Given the description of an element on the screen output the (x, y) to click on. 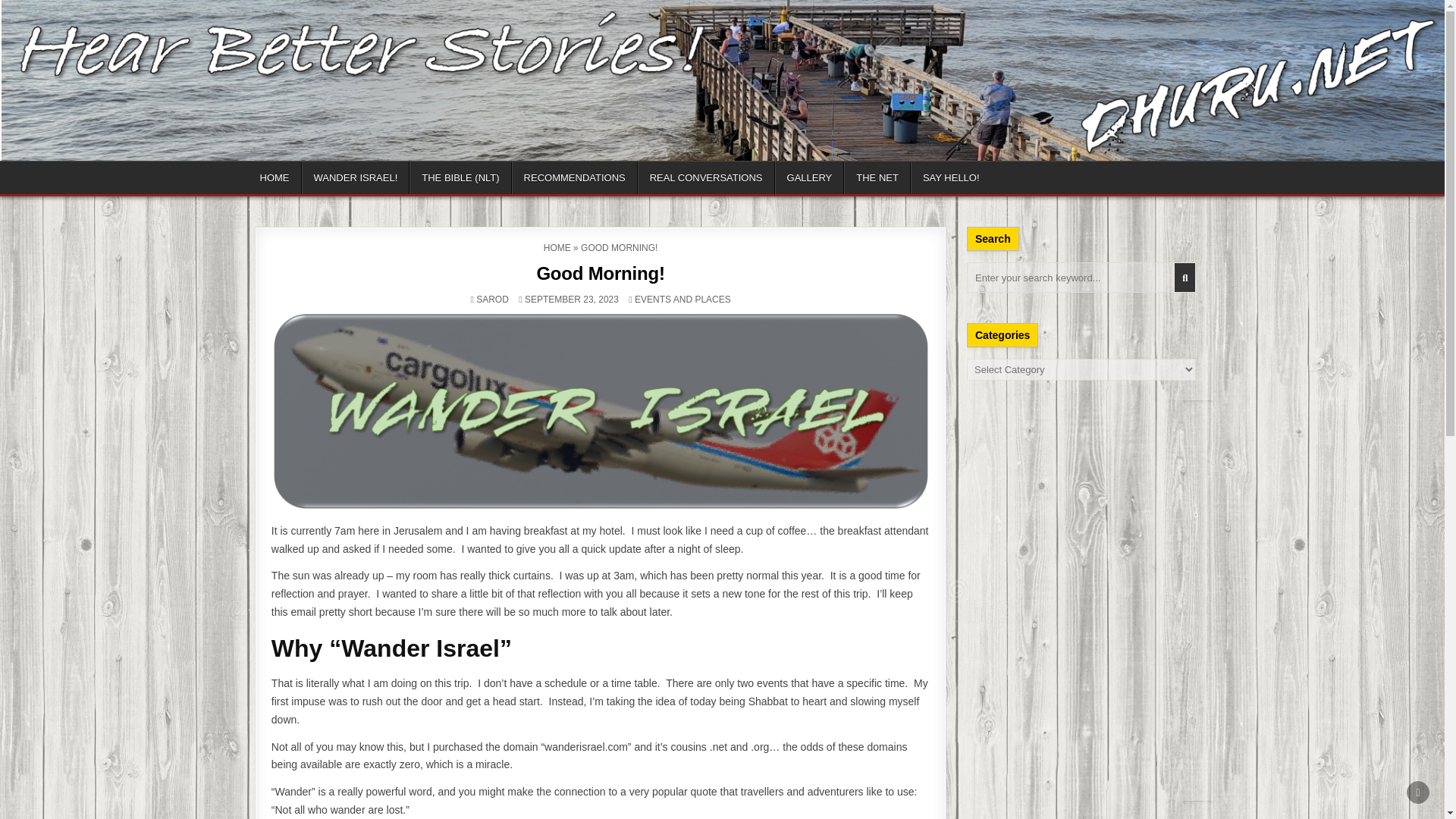
Home (273, 180)
Recommendations (546, 180)
Wander Israel! (344, 180)
SCROLL TO TOP (1417, 792)
EVENTS AND PLACES (677, 303)
Good Morning! (600, 277)
SAROD (498, 302)
The Net (801, 180)
Scroll to Top (1417, 792)
SCROLL TO TOP (1417, 792)
HOME (558, 251)
Say Hello! (868, 180)
Gallery (742, 180)
Real Conversations (656, 180)
